Given the description of an element on the screen output the (x, y) to click on. 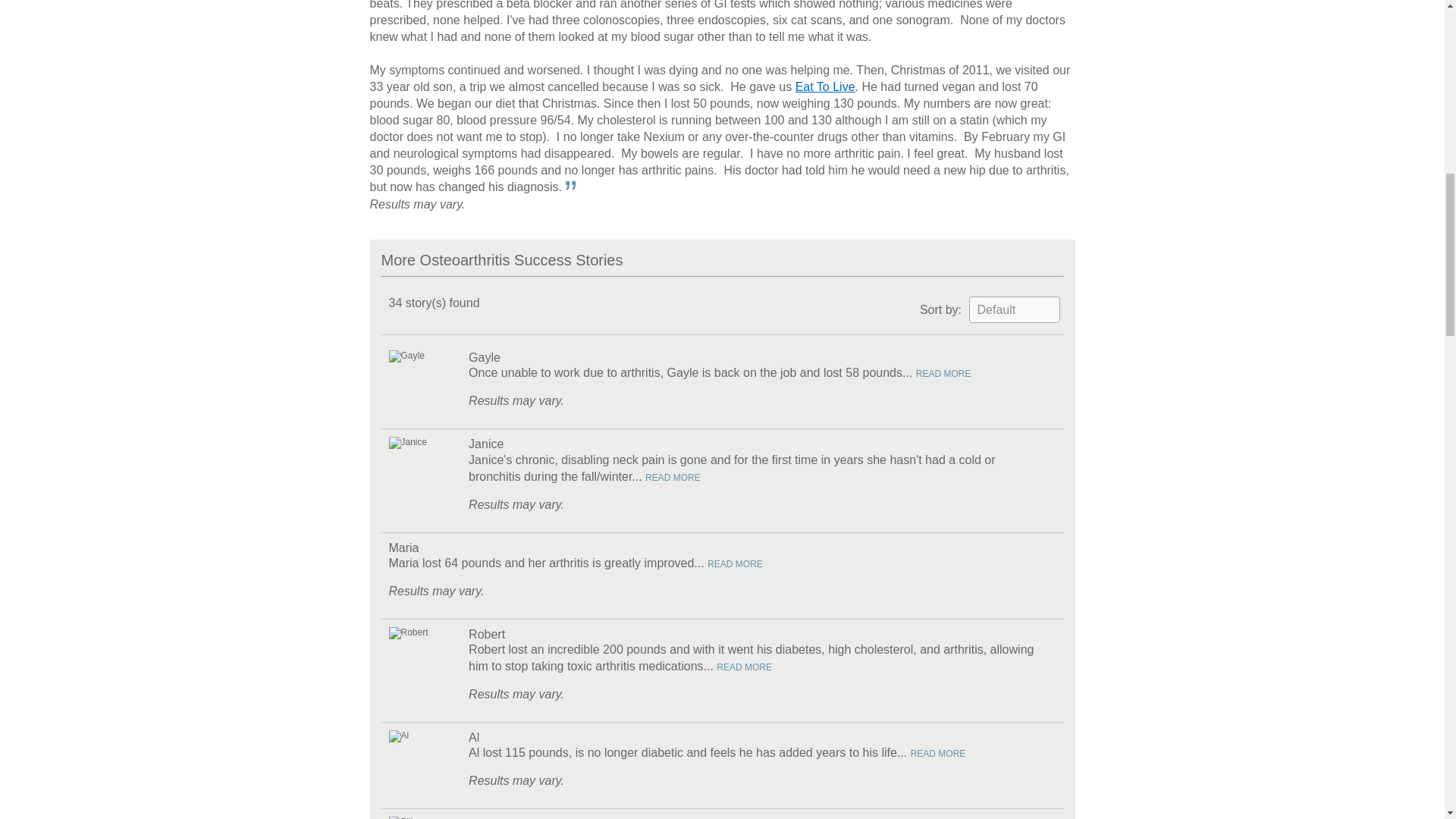
Eat To Live (825, 86)
